Given the description of an element on the screen output the (x, y) to click on. 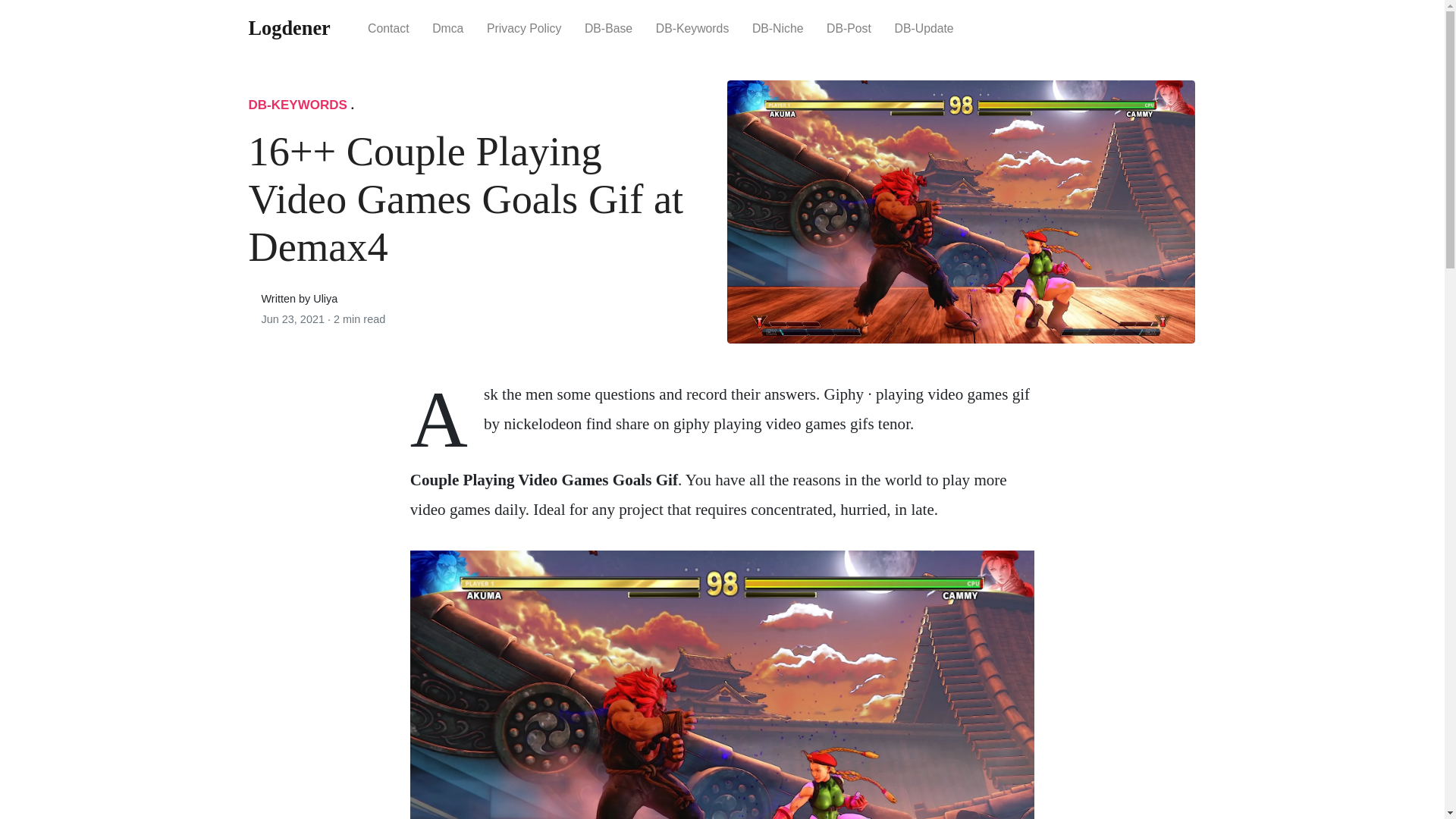
Privacy Policy (524, 27)
DB-Keywords (691, 27)
DB-Keywords (691, 27)
Contact (388, 27)
DB-Post (848, 27)
Dmca (448, 27)
DB-Update (923, 27)
DB-Niche (778, 27)
DB-Niche (778, 27)
DB-Post (848, 27)
DB-Base (609, 27)
DB-KEYWORDS (297, 104)
DB-Base (609, 27)
DB-KEYWORDS (297, 104)
DB-Update (923, 27)
